Given the description of an element on the screen output the (x, y) to click on. 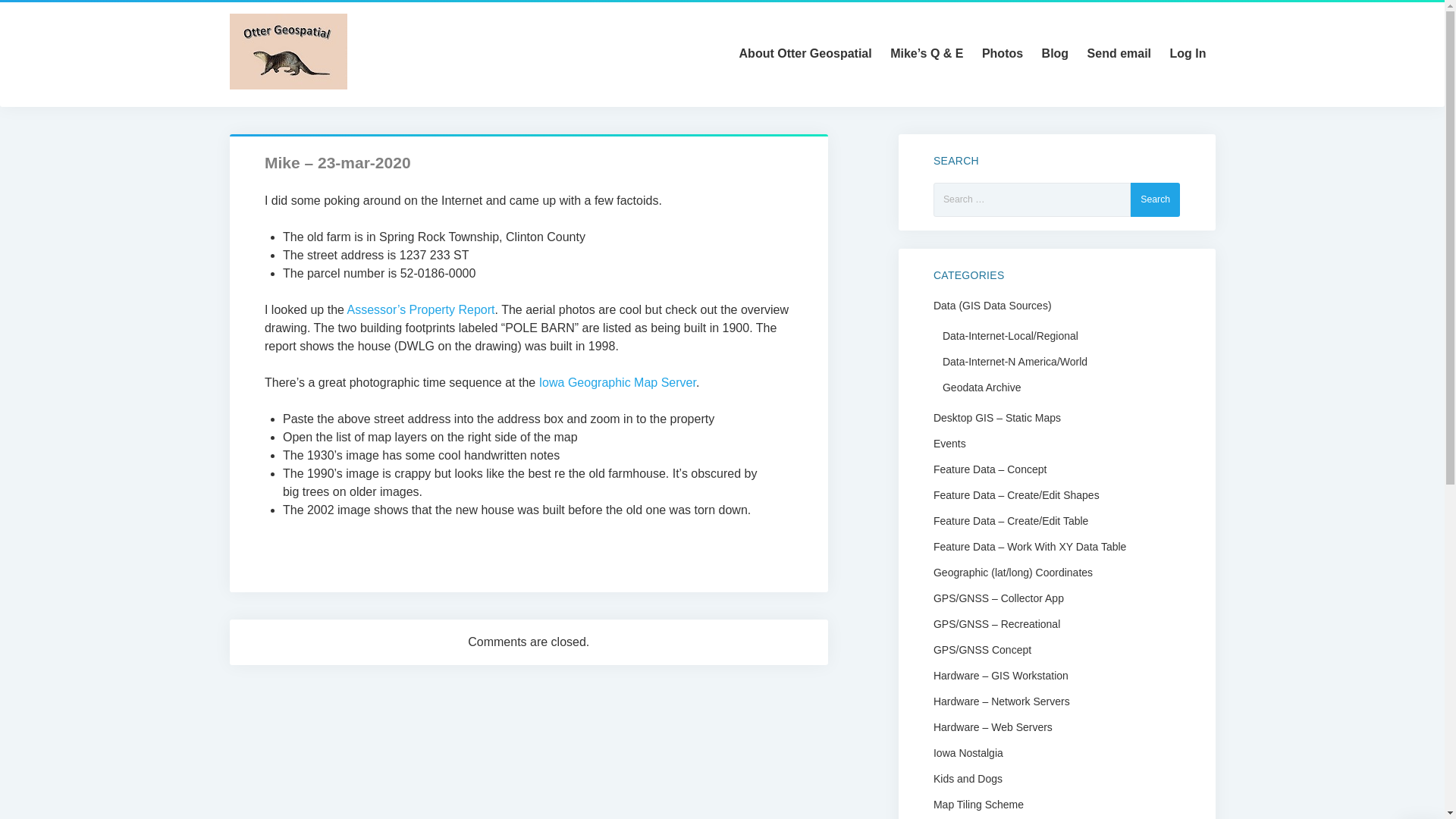
Iowa Nostalgia (968, 752)
Blog (1055, 52)
Search (1155, 199)
Kids and Dogs (968, 777)
Map Tiling Scheme (978, 803)
Geodata Archive (982, 386)
About Otter Geospatial (805, 52)
Send email (1119, 52)
Iowa Geographic Map Server (616, 382)
Search (1155, 199)
